Given the description of an element on the screen output the (x, y) to click on. 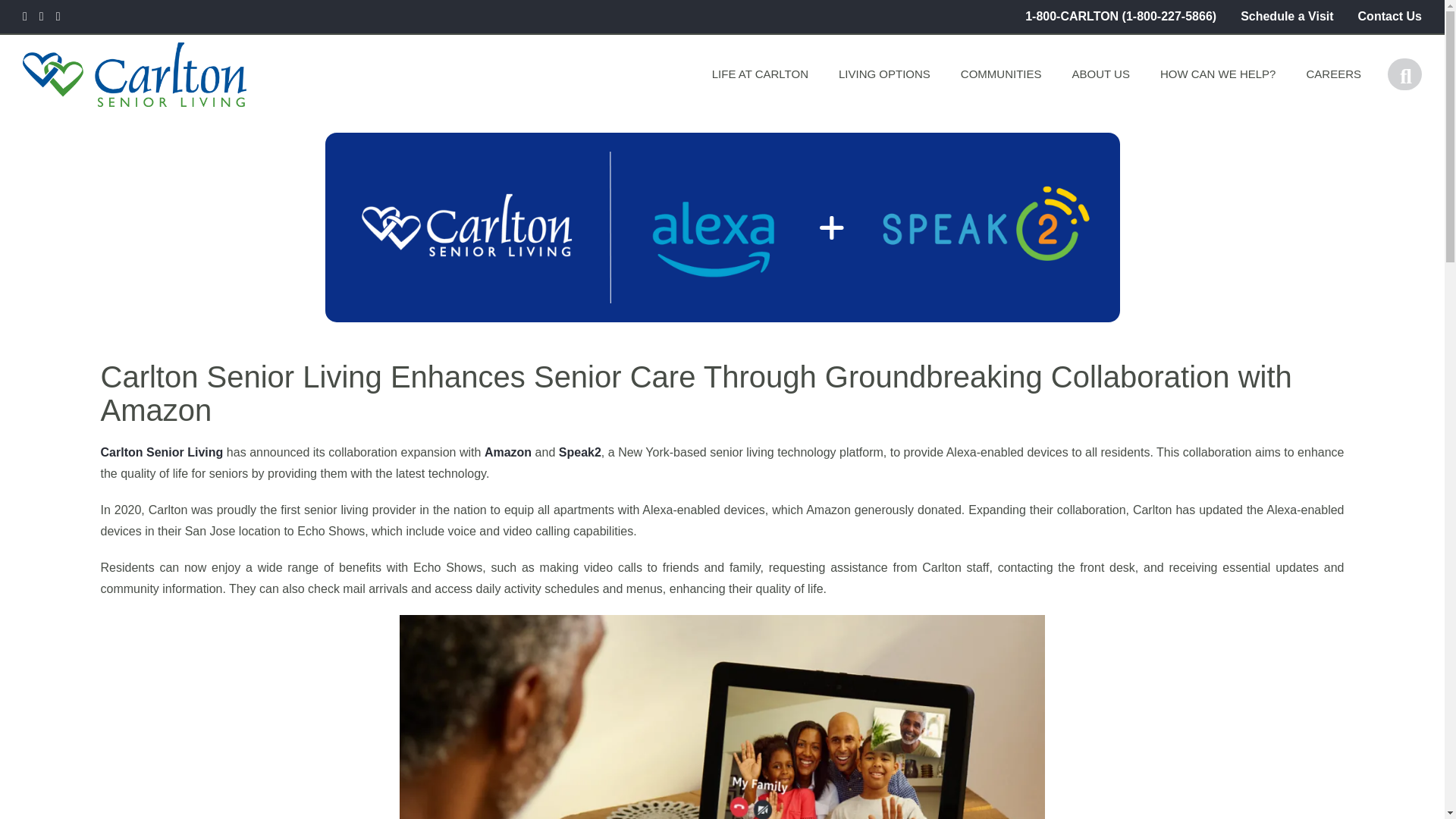
Contact Us (1390, 15)
Schedule a Visit (1286, 15)
Schedule a Visit (1286, 15)
HOW CAN WE HELP? (1217, 74)
ABOUT US (1100, 74)
Contact Us (1390, 15)
Back to Home (134, 74)
LIFE AT CARLTON (760, 74)
Carlton Senior Living Logo (170, 74)
COMMUNITIES (1000, 74)
LIVING OPTIONS (884, 74)
